Given the description of an element on the screen output the (x, y) to click on. 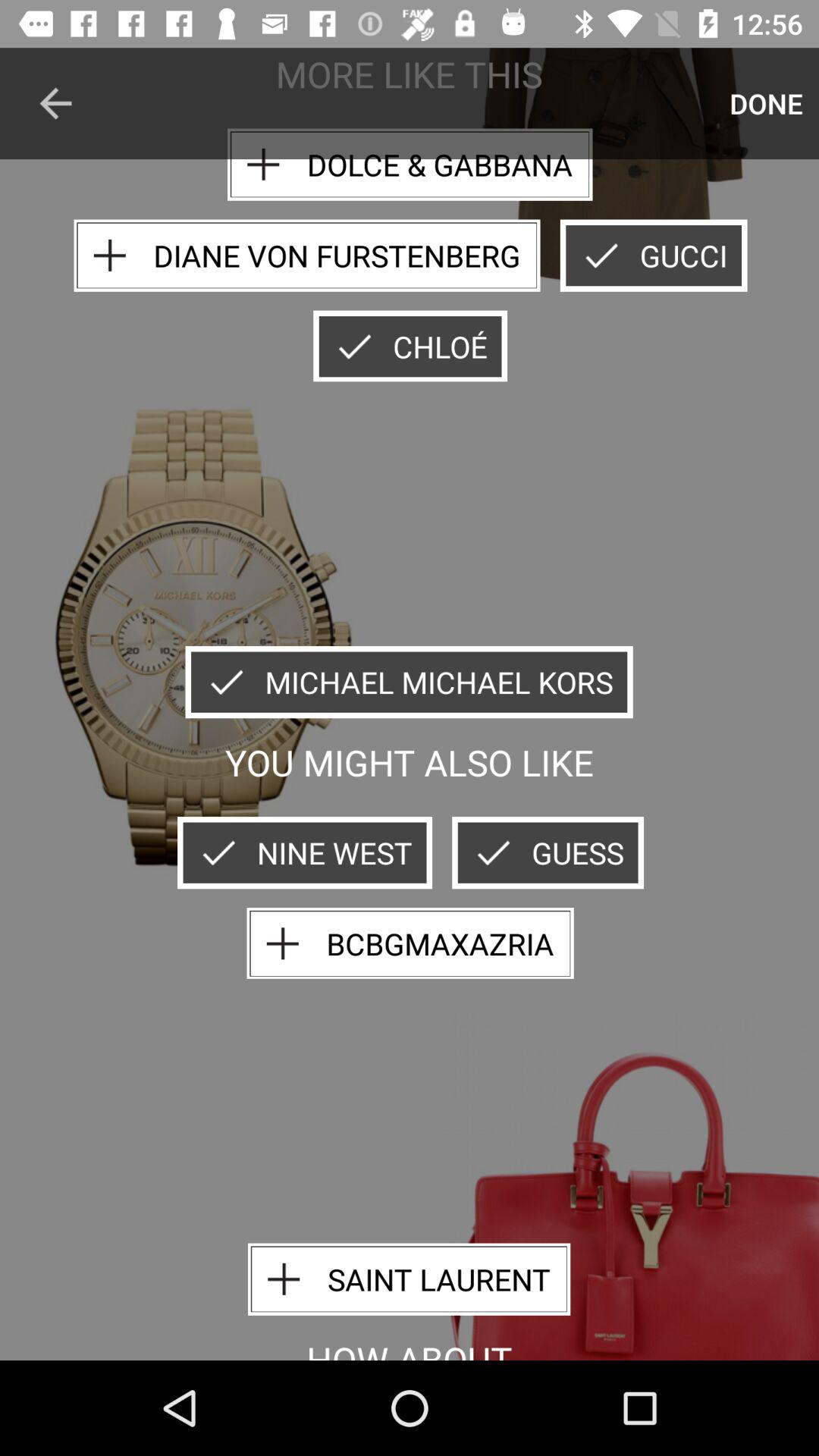
tap the item next to the dolce & gabbana item (55, 103)
